Given the description of an element on the screen output the (x, y) to click on. 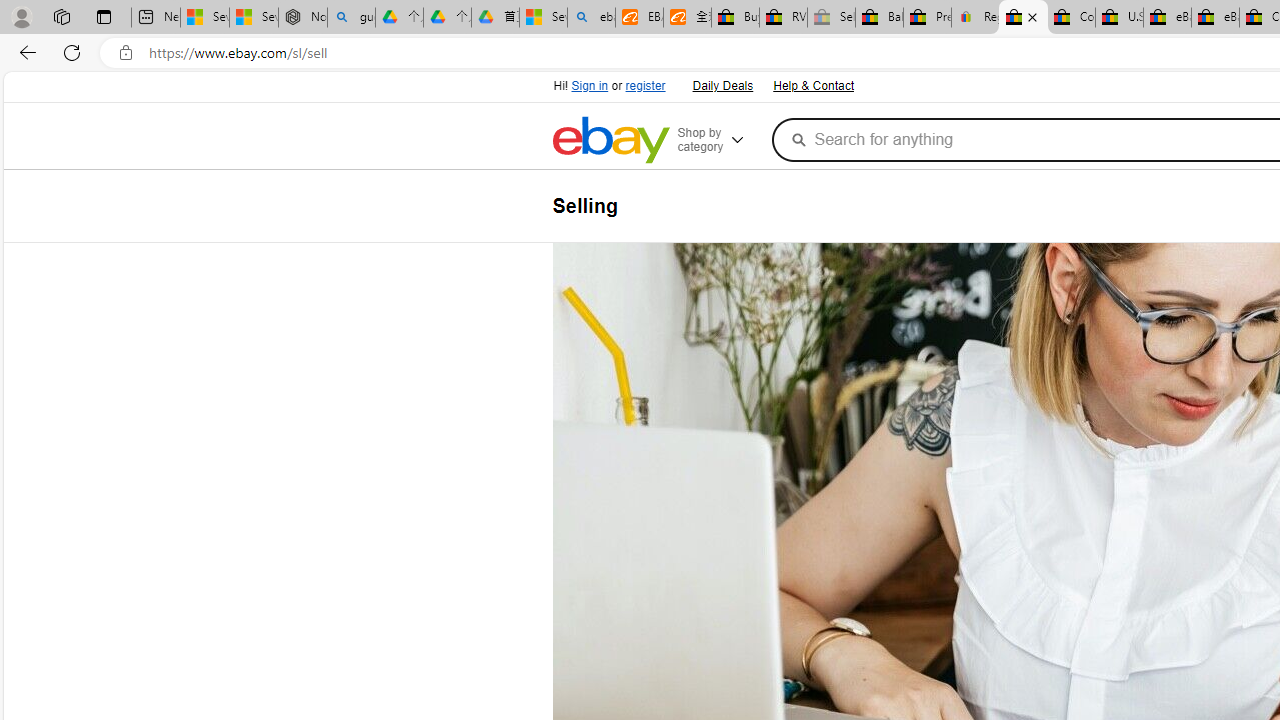
eBay Home (610, 139)
Register: Create a personal eBay account (975, 17)
Help & Contact (811, 84)
Press Room - eBay Inc. (927, 17)
Sell worldwide with eBay - Sleeping (831, 17)
